Given the description of an element on the screen output the (x, y) to click on. 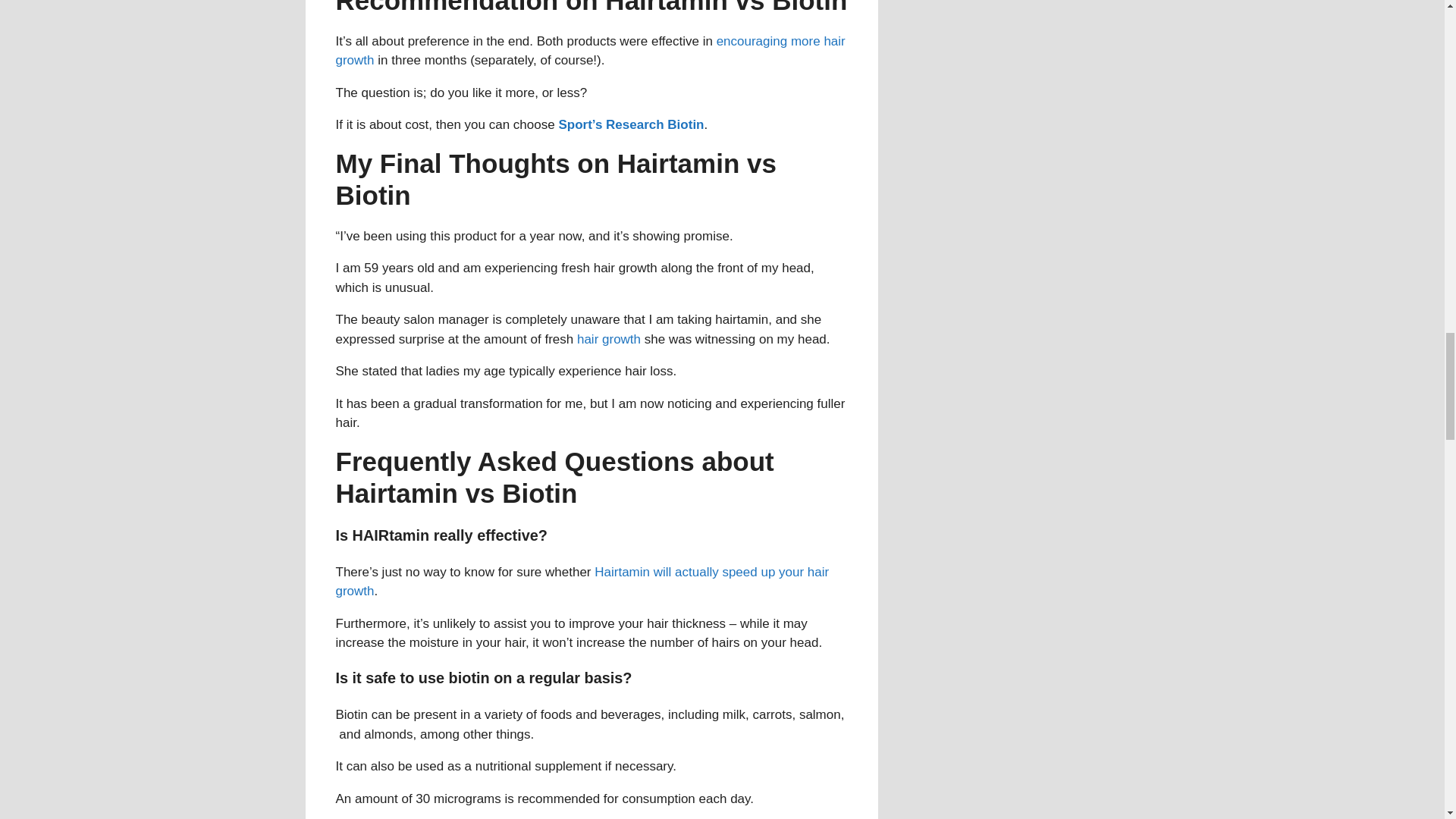
Hairtamin will actually speed up your hair growth (581, 581)
encouraging more hair growth (589, 50)
hair growth (608, 339)
